Given the description of an element on the screen output the (x, y) to click on. 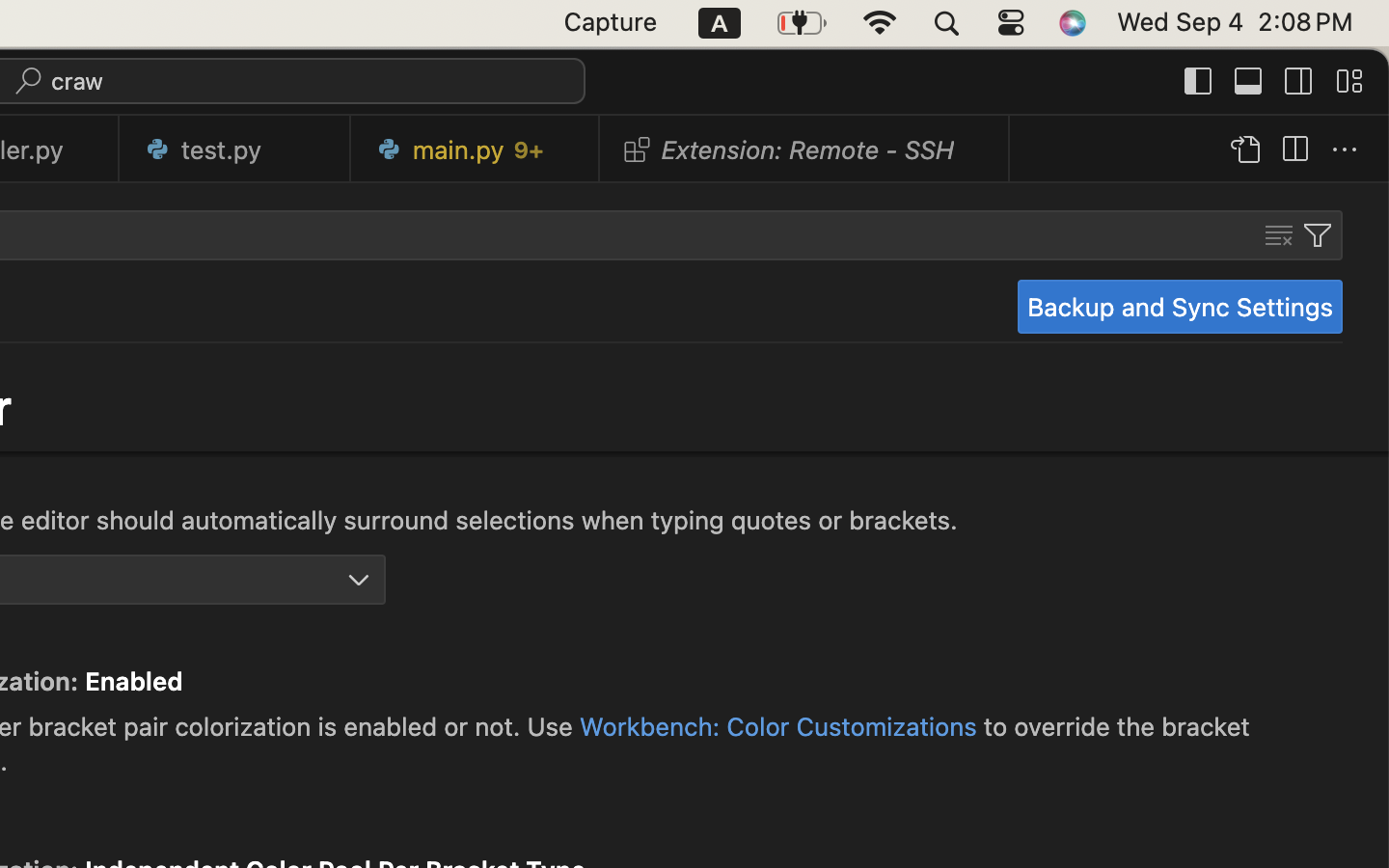
Enabled Element type: AXStaticText (133, 681)
 Element type: AXStaticText (1344, 150)
0 Extension: Remote - SSH   Element type: AXRadioButton (804, 149)
 Element type: AXButton (1244, 150)
 Element type: AXStaticText (358, 580)
